Given the description of an element on the screen output the (x, y) to click on. 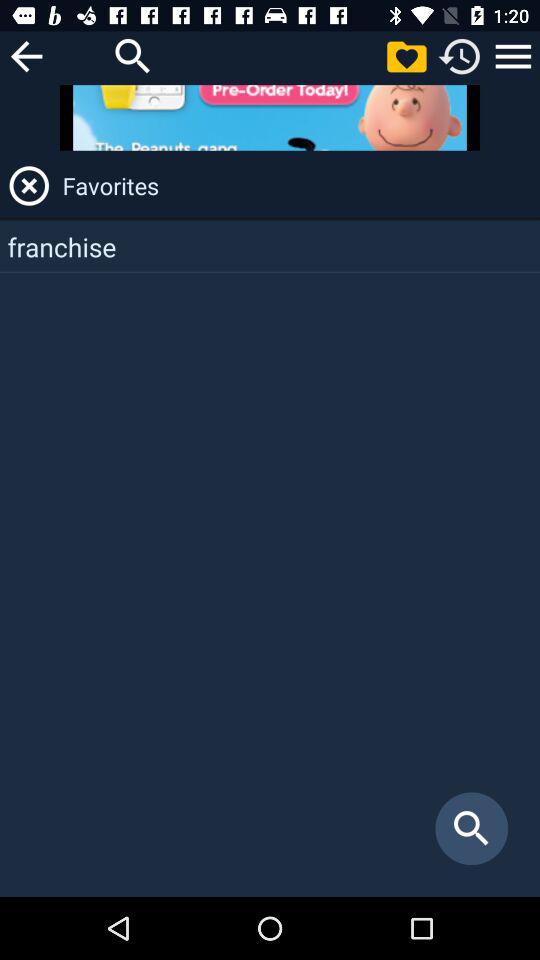
view favorites (406, 56)
